Given the description of an element on the screen output the (x, y) to click on. 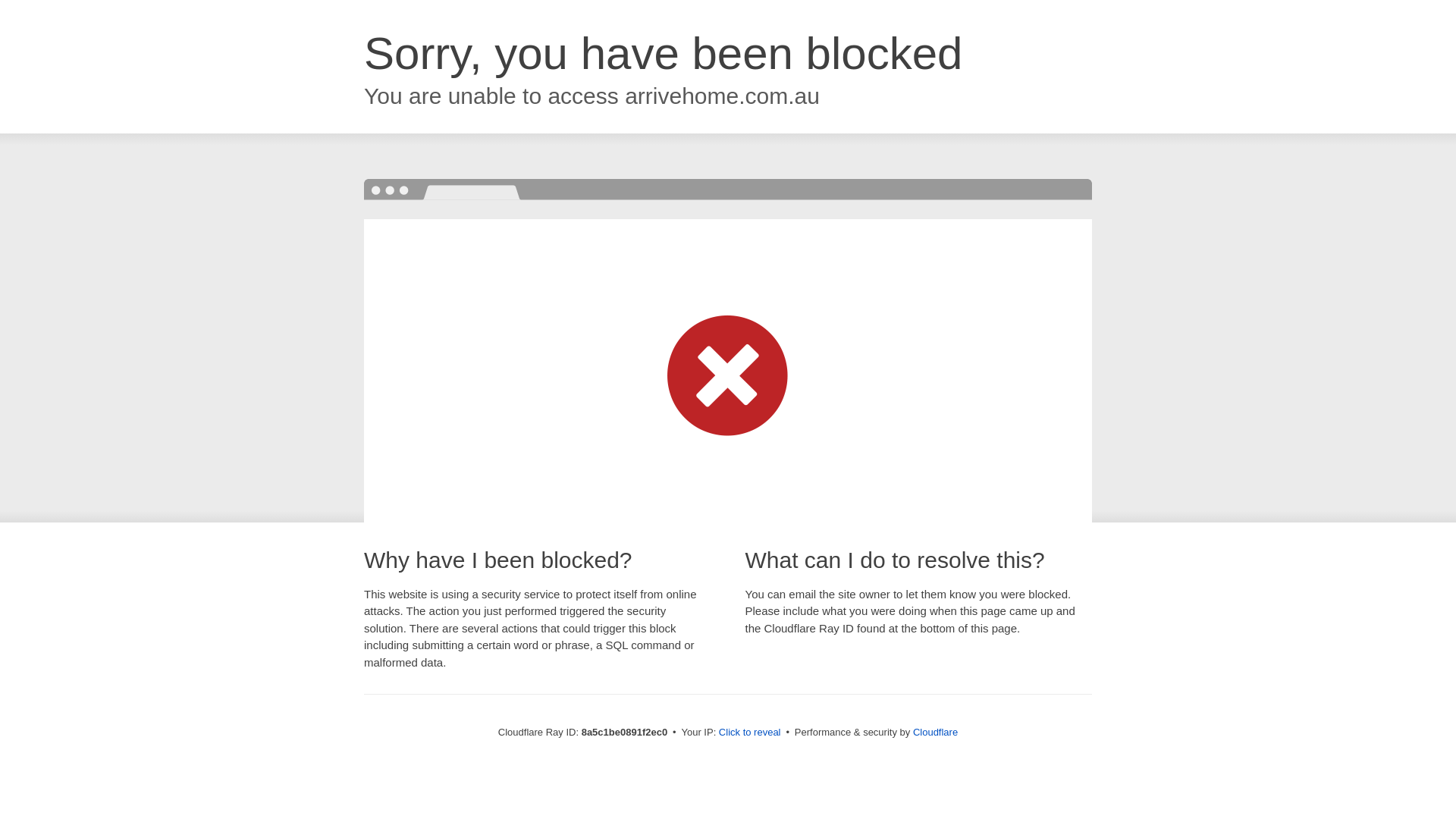
Click to reveal (749, 732)
Cloudflare (935, 731)
